Given the description of an element on the screen output the (x, y) to click on. 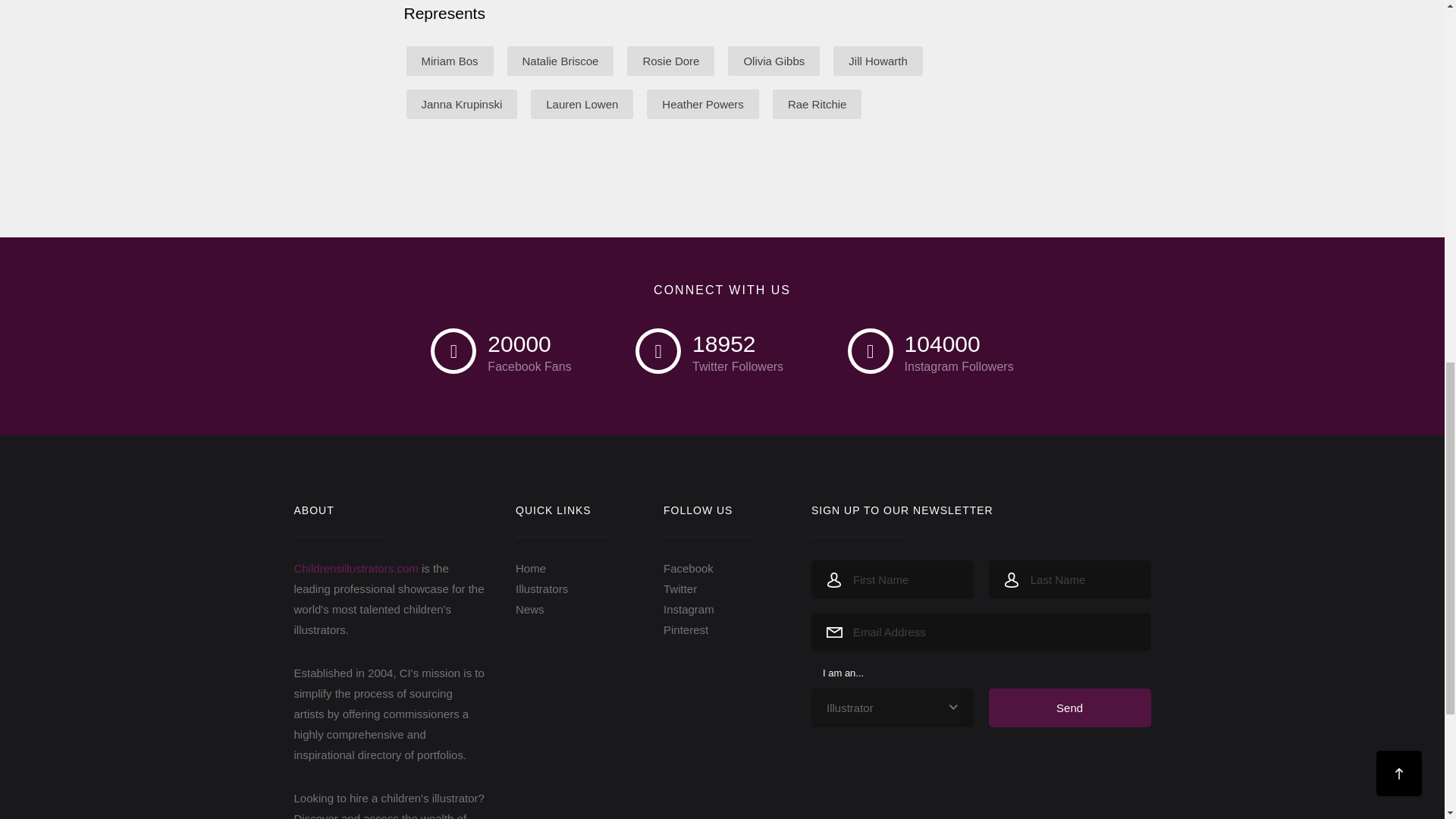
Miriam Bos (449, 60)
Lauren Lowen (582, 103)
Jill Howarth (877, 60)
Rosie Dore (670, 60)
Janna Krupinski (462, 103)
Send (1069, 707)
Heather Powers (702, 103)
Natalie Briscoe (560, 60)
Olivia Gibbs (773, 60)
